Given the description of an element on the screen output the (x, y) to click on. 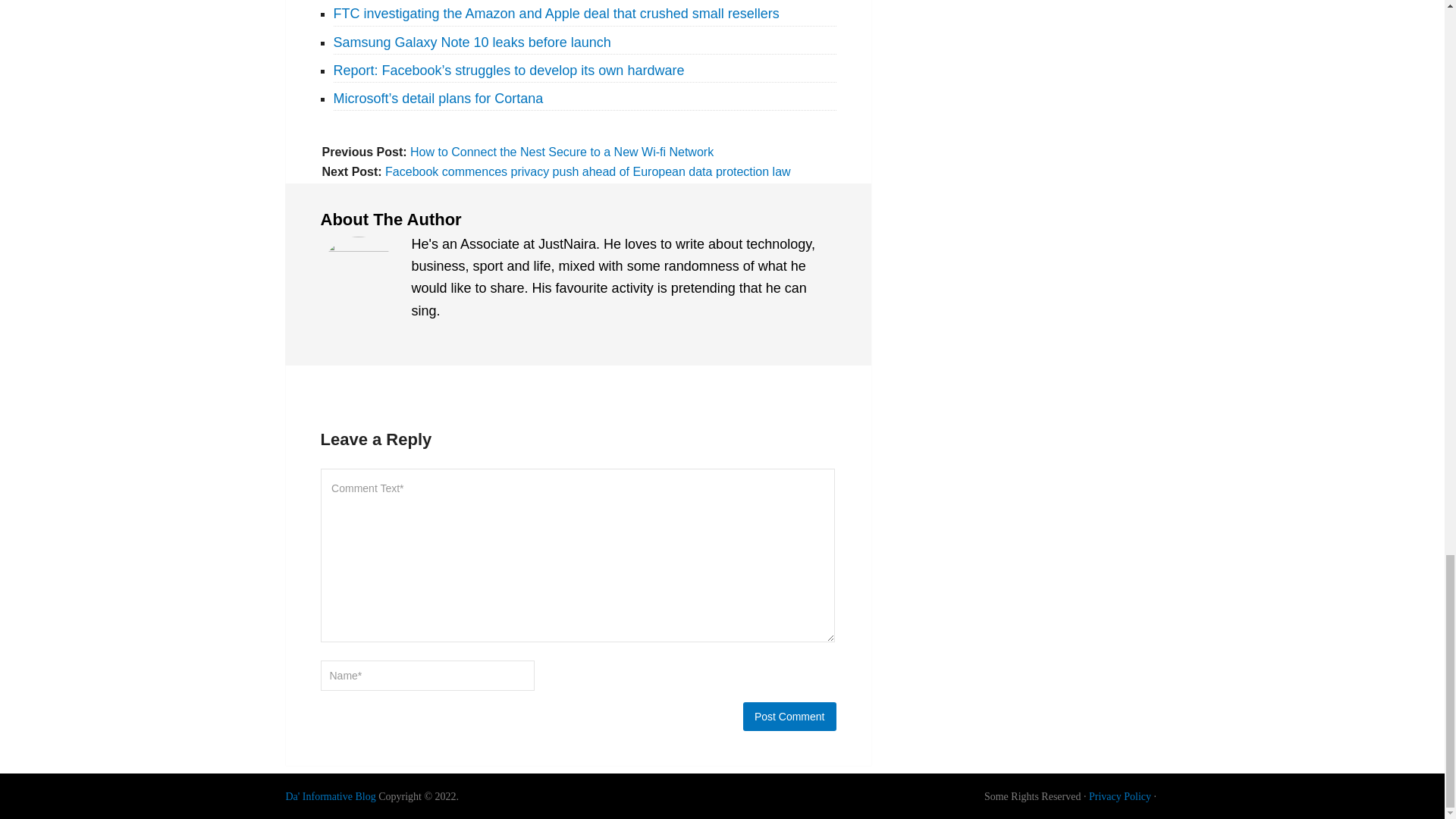
Samsung Galaxy Note 10 leaks before launch (472, 41)
How to Connect the Nest Secure to a New Wi-fi Network (561, 151)
Post Comment (788, 716)
